Given the description of an element on the screen output the (x, y) to click on. 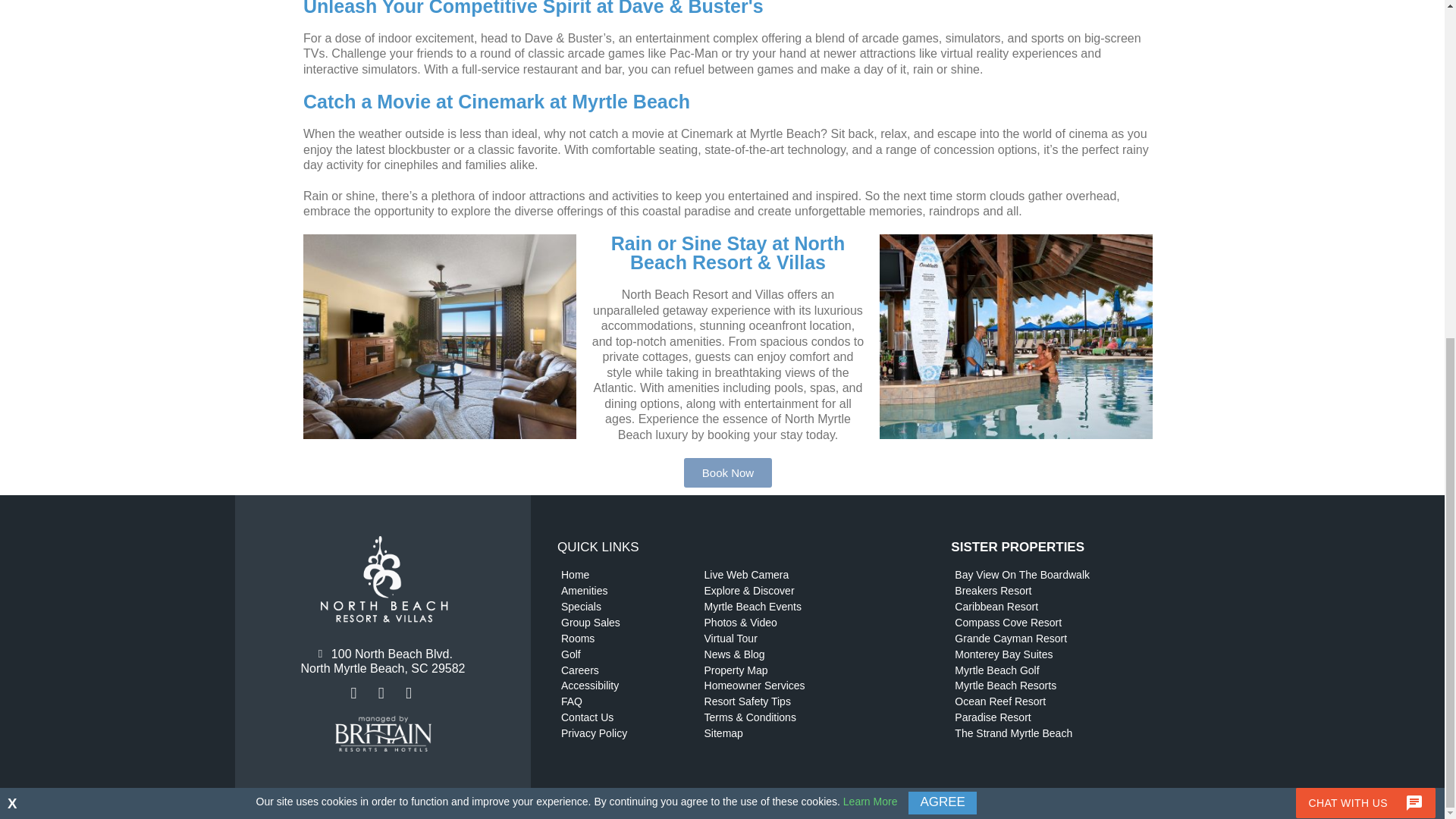
Visit our Instagram (382, 693)
Visit our Facebook (354, 693)
Book Now (727, 472)
Visit our YouTube Channel (410, 693)
North Beach Two Bedroom Condo Living Room (439, 336)
North Beach Pool Bar Bartender and Couple (1016, 336)
